Given the description of an element on the screen output the (x, y) to click on. 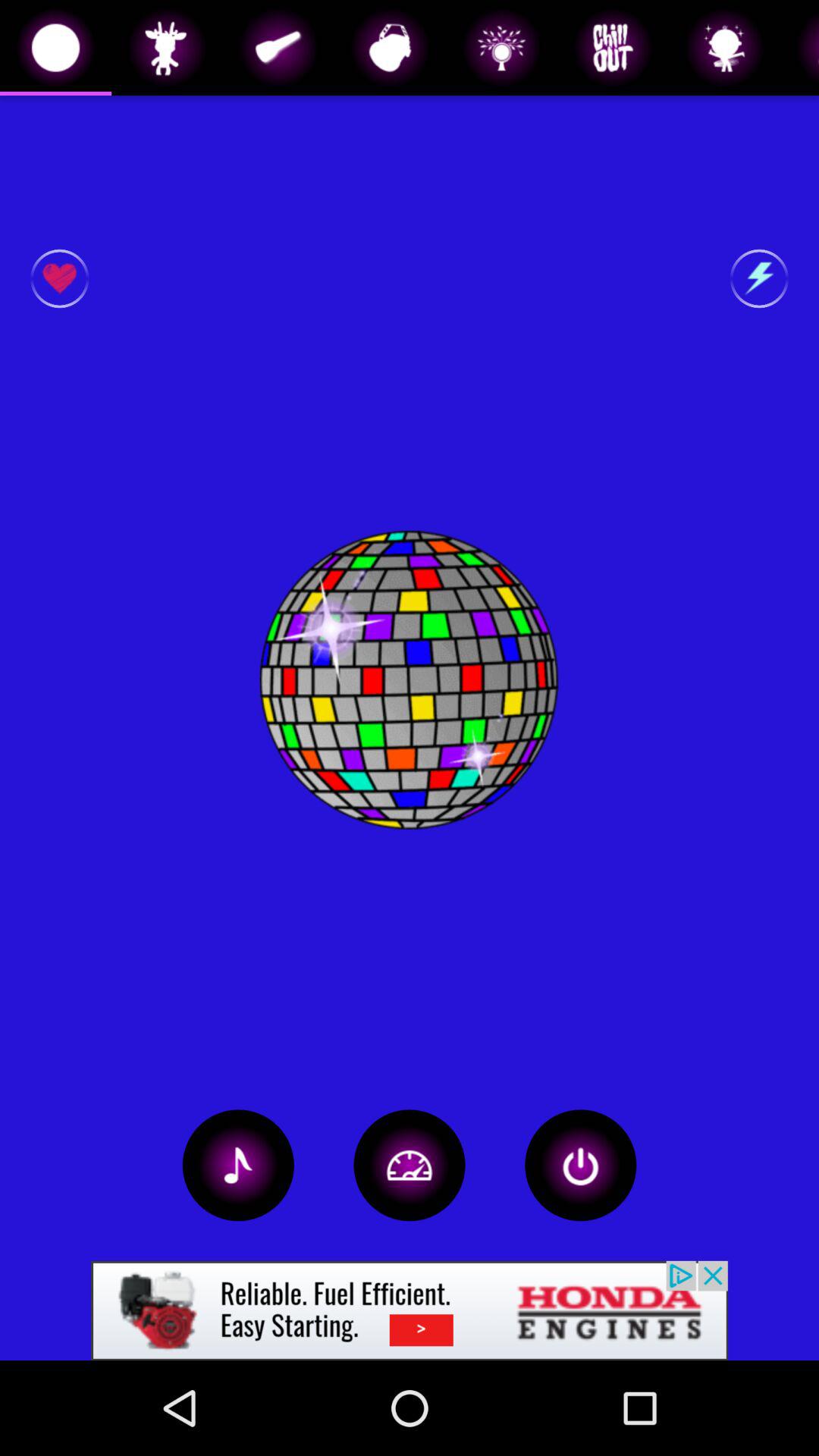
music button (238, 1165)
